Given the description of an element on the screen output the (x, y) to click on. 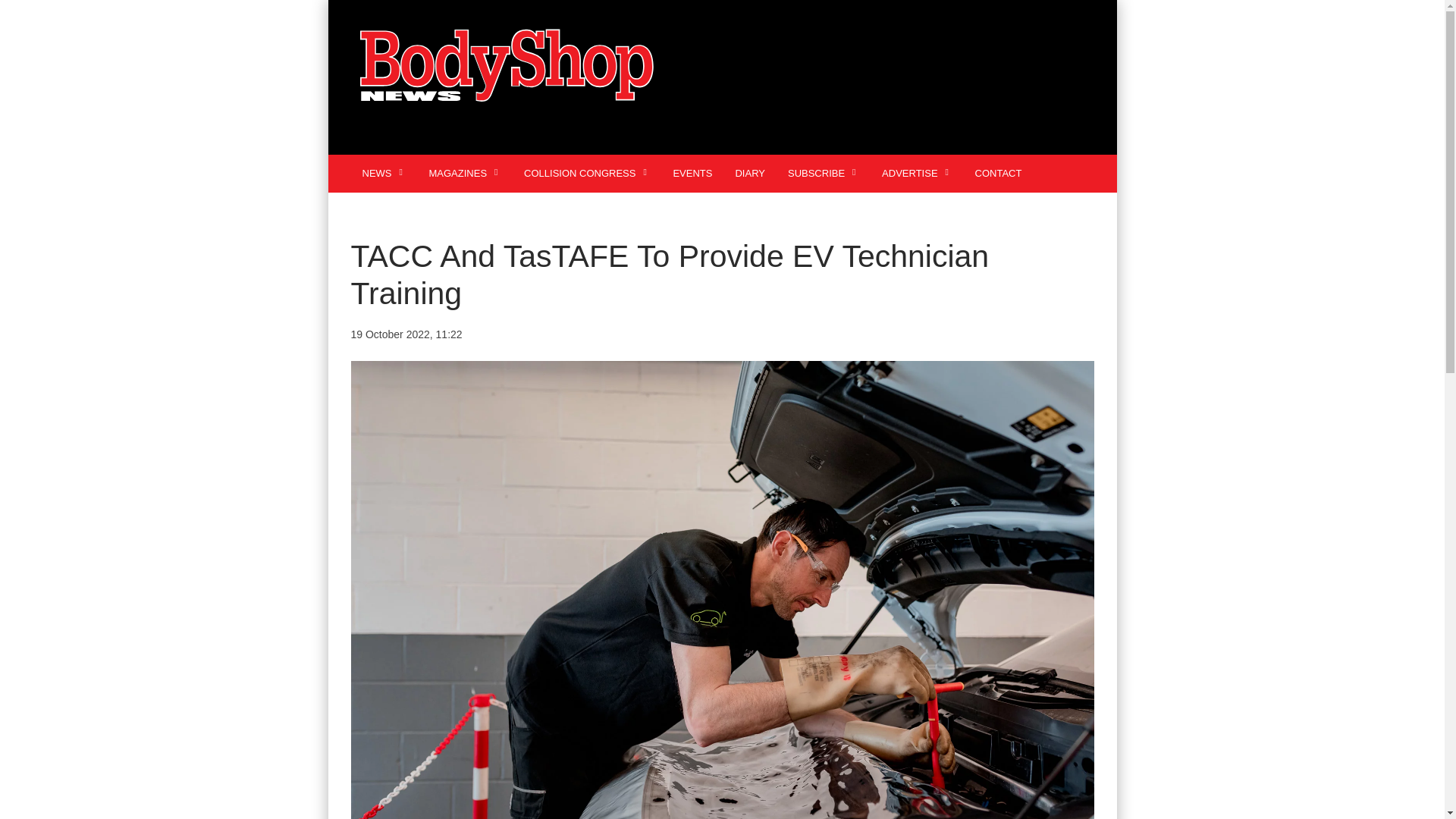
COLLISION CONGRESS (586, 173)
EVENTS (692, 173)
MAGAZINES (464, 173)
DIARY (749, 173)
SUBSCRIBE (823, 173)
NEWS (383, 173)
